Given the description of an element on the screen output the (x, y) to click on. 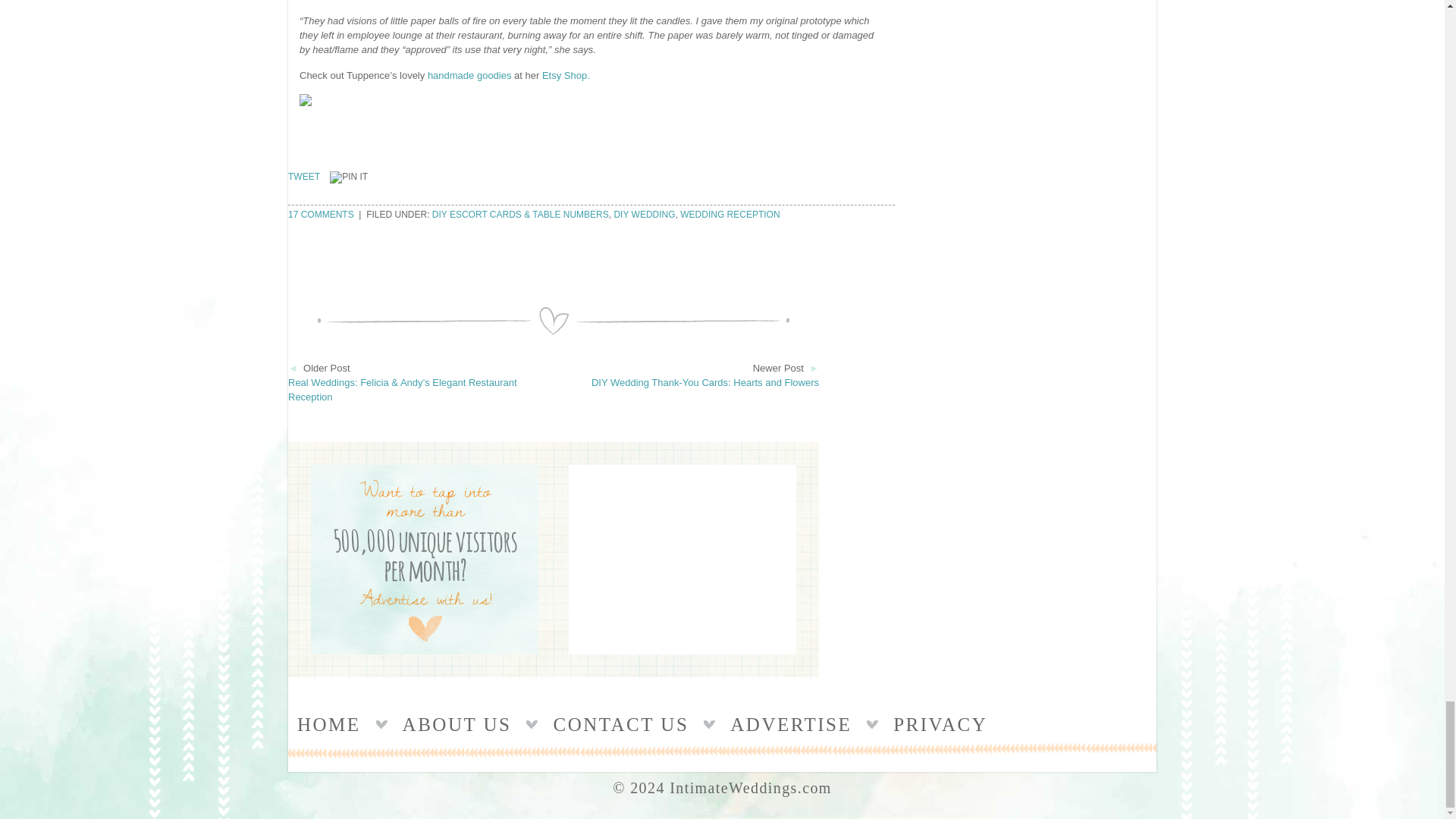
17 COMMENTS (320, 213)
Etsy Shop. (565, 74)
Pin It (349, 176)
TWEET (304, 175)
handmade goodies (470, 74)
